Given the description of an element on the screen output the (x, y) to click on. 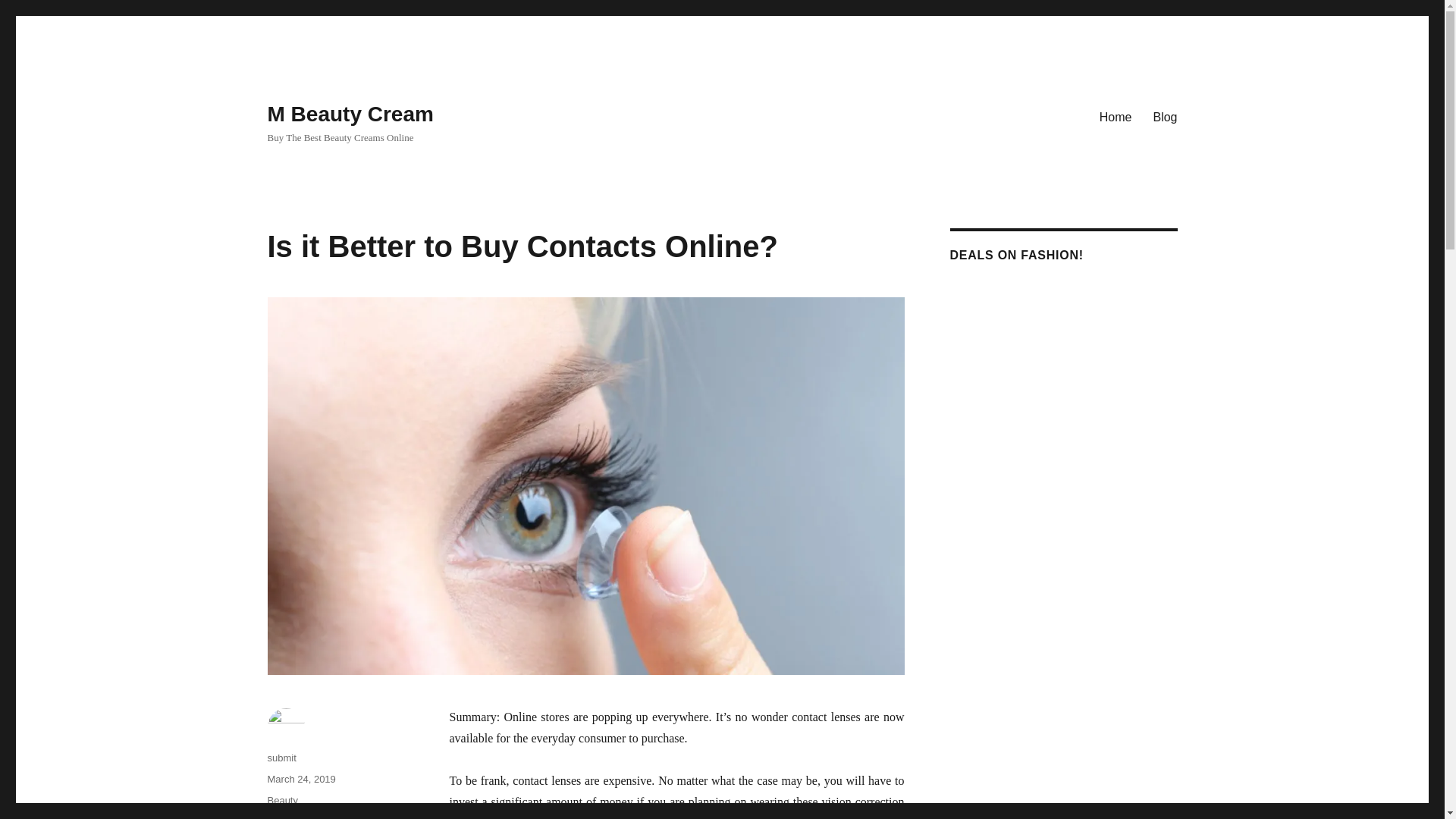
Beauty (281, 799)
Home (1115, 116)
M Beauty Cream (349, 114)
submit (280, 757)
Blog (1164, 116)
March 24, 2019 (300, 778)
